Given the description of an element on the screen output the (x, y) to click on. 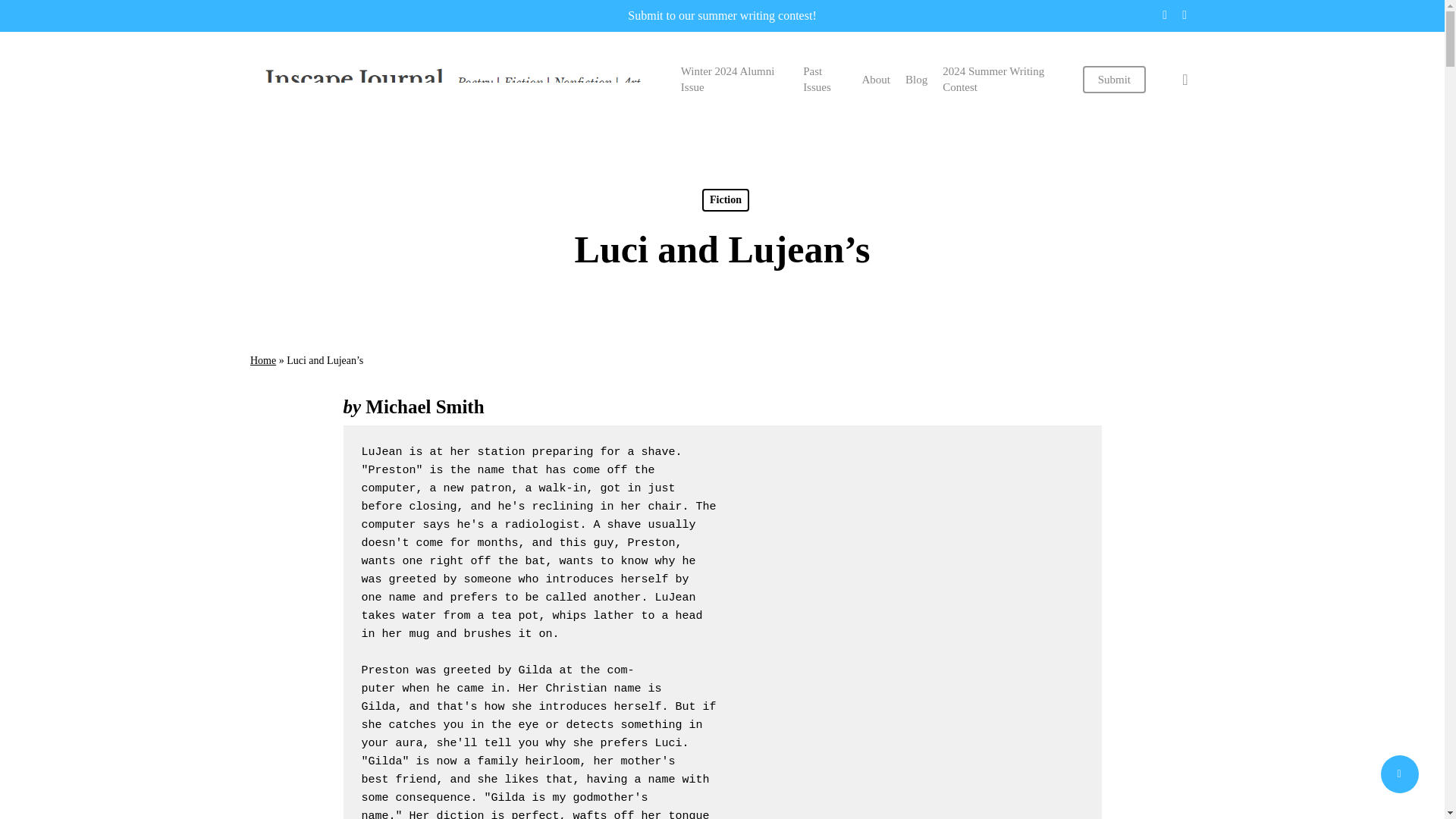
2024 Summer Writing Contest (1004, 79)
Home (263, 360)
Fiction (725, 200)
Submit (1114, 78)
Past Issues (824, 79)
search (1184, 78)
linkedin (1164, 15)
Winter 2024 Alumni Issue (734, 79)
Blog (916, 78)
instagram (1184, 15)
About (875, 78)
Submit to our summer writing contest! (721, 15)
